Given the description of an element on the screen output the (x, y) to click on. 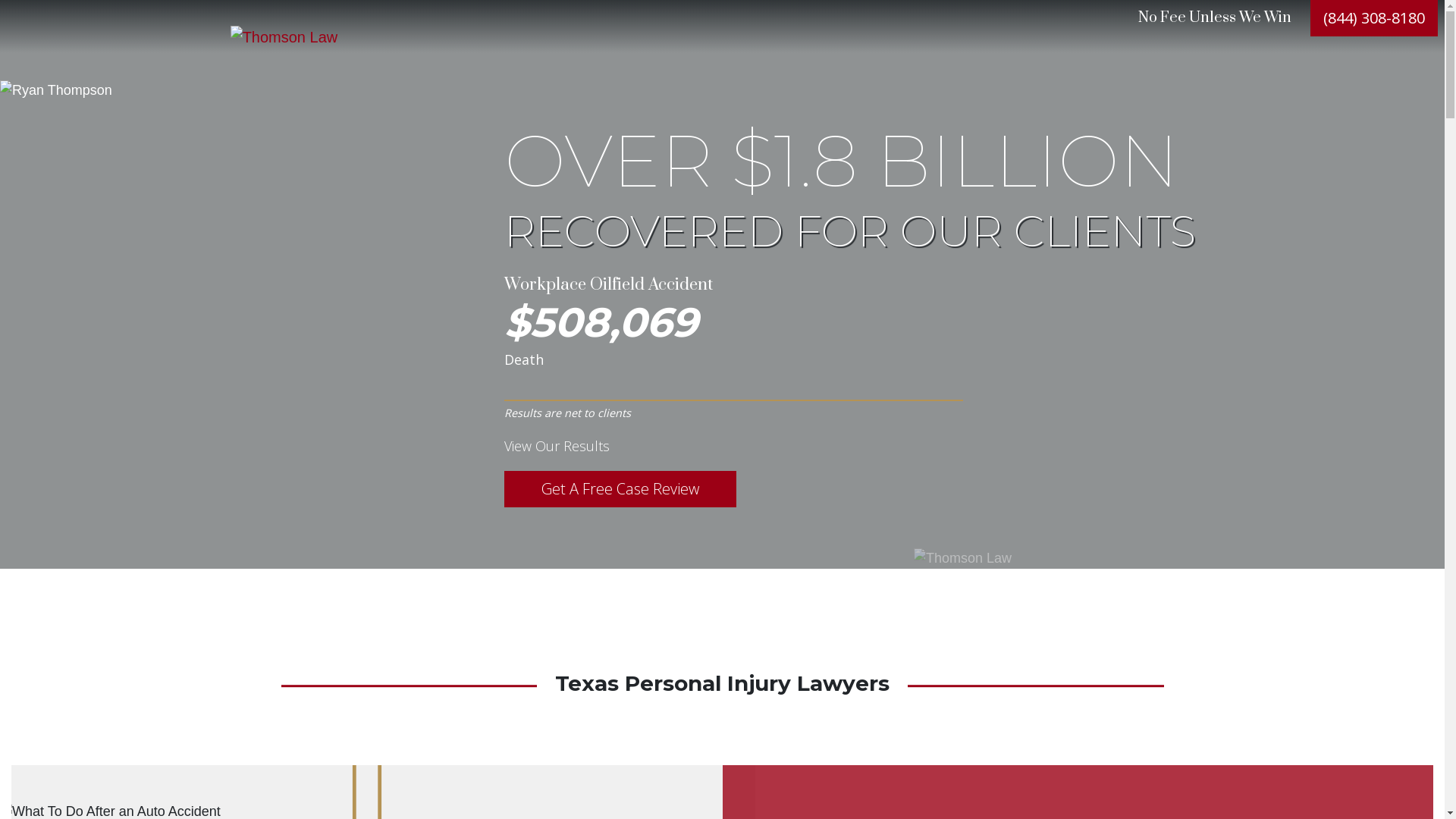
View Our Results Element type: text (556, 445)
(844) 308-8180 Element type: text (1373, 18)
Get A Free Case Review Element type: text (620, 488)
